Given the description of an element on the screen output the (x, y) to click on. 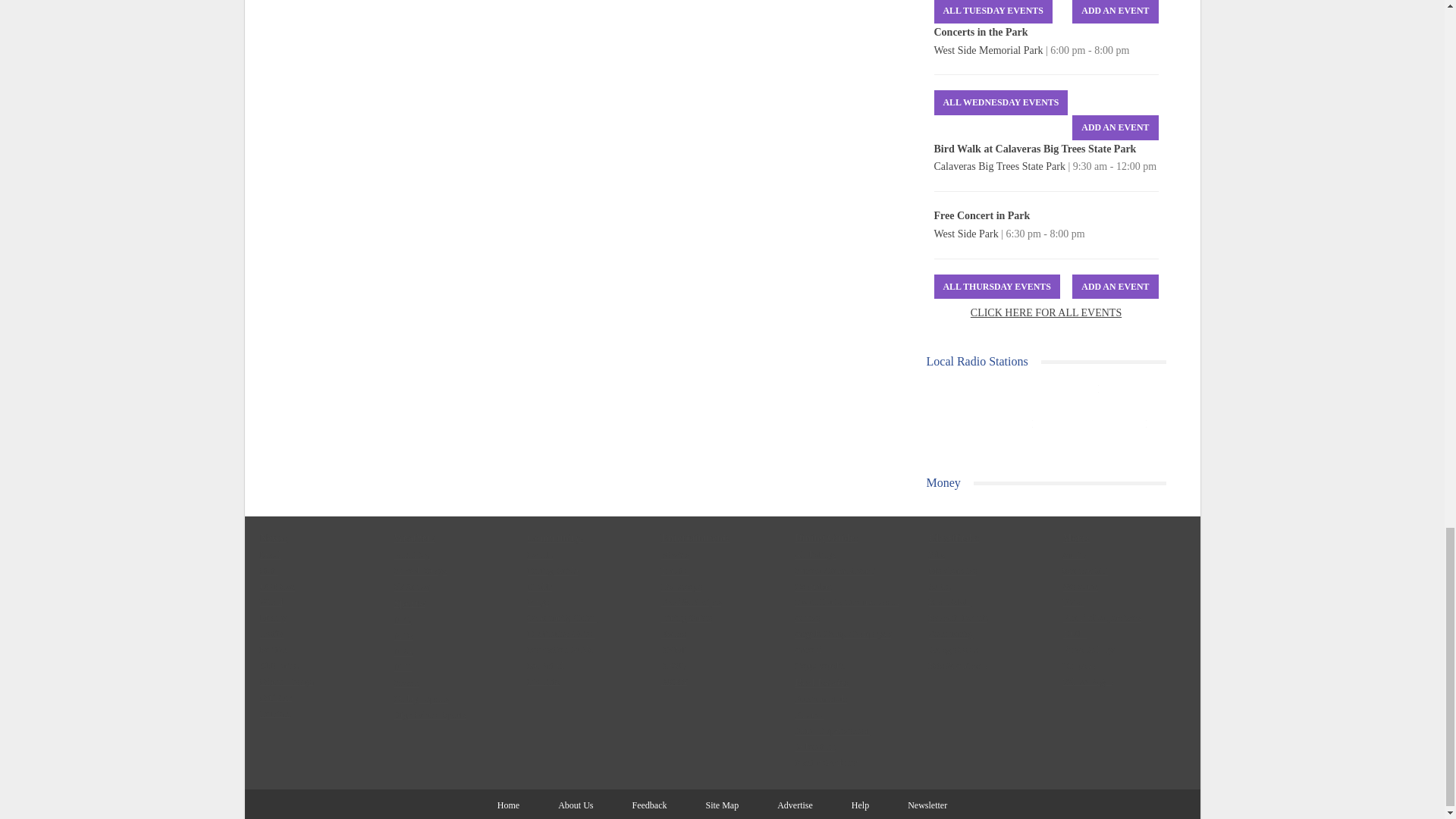
Add An Event (1114, 11)
Add An Event (1114, 286)
All Thursday Events (996, 286)
All Tuesday Events (993, 11)
Add An Event (1114, 127)
All Wednesday Events (1001, 102)
